Given the description of an element on the screen output the (x, y) to click on. 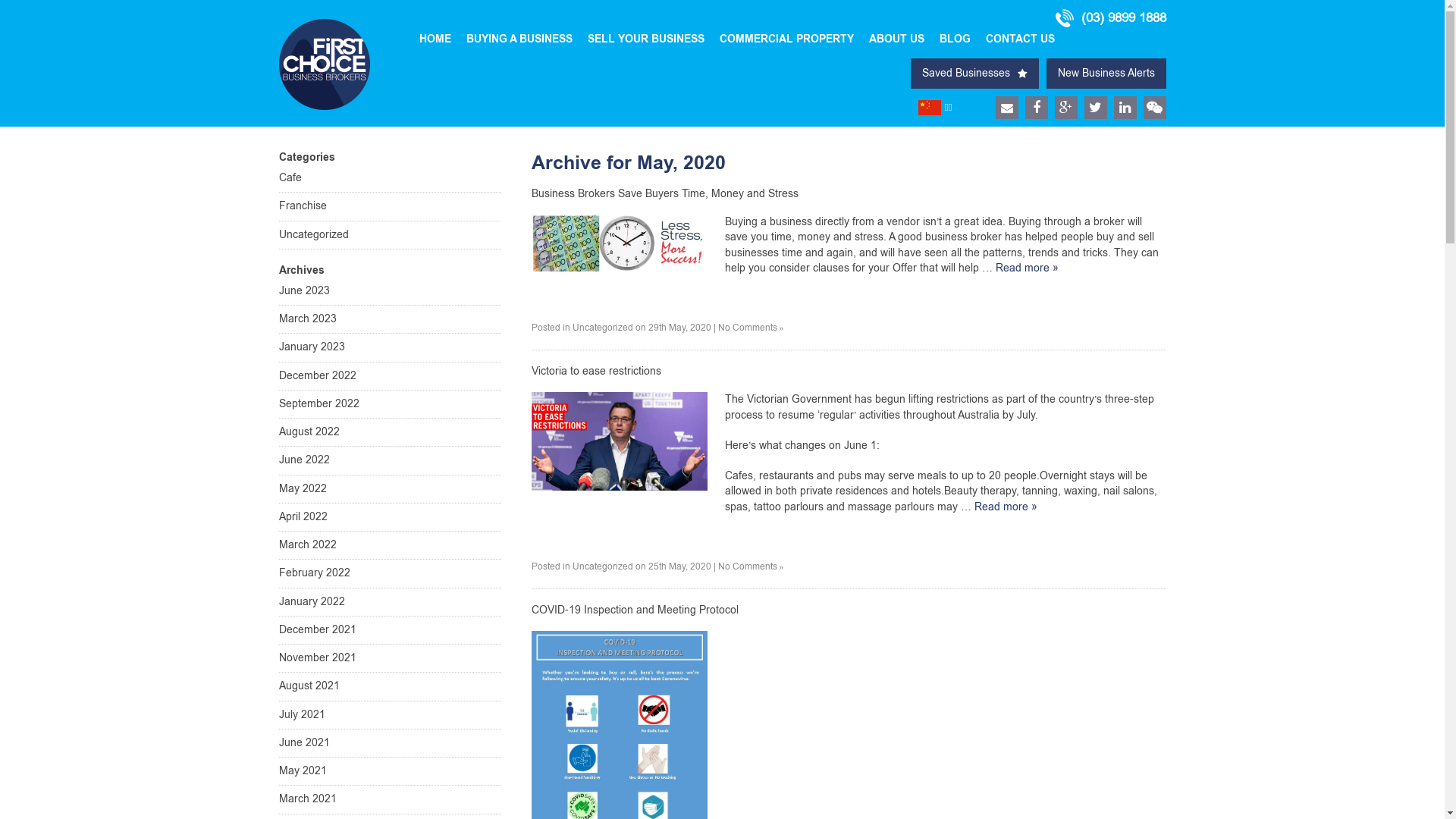
June 2021 Element type: text (390, 743)
April 2022 Element type: text (390, 517)
Google-plus Element type: hover (1065, 107)
First Choice Business Brokers PTY LTD -  Element type: hover (324, 63)
August 2022 Element type: text (390, 432)
July 2021 Element type: text (390, 714)
Twitter Element type: hover (1095, 107)
COVID-19 Inspection and Meeting Protocol Element type: text (633, 609)
March 2023 Element type: text (390, 319)
Wechat Element type: hover (1154, 107)
January 2022 Element type: text (390, 602)
Uncategorized Element type: text (601, 327)
Business Brokers Save Buyers Time, Money and Stress Element type: text (663, 193)
COMMERCIAL PROPERTY Element type: text (786, 39)
SELL YOUR BUSINESS Element type: text (646, 39)
Cafe Element type: text (390, 181)
January 2023 Element type: text (390, 347)
February 2022 Element type: text (390, 573)
Saved Businesses Element type: text (974, 73)
Victoria to ease restrictions Element type: text (595, 370)
August 2021 Element type: text (390, 686)
New Business Alerts Element type: text (1106, 73)
BUYING A BUSINESS Element type: text (519, 39)
email Element type: hover (1005, 107)
March 2022 Element type: text (390, 545)
December 2021 Element type: text (390, 630)
Uncategorized Element type: text (390, 235)
Facebook Element type: hover (1036, 107)
September 2022 Element type: text (390, 404)
March 2021 Element type: text (390, 799)
December 2022 Element type: text (390, 376)
June 2023 Element type: text (390, 294)
(03) 9899 1888 Element type: text (1109, 17)
May 2021 Element type: text (390, 771)
November 2021 Element type: text (390, 658)
HOME Element type: text (434, 39)
Uncategorized Element type: text (601, 566)
Franchise Element type: text (390, 206)
June 2022 Element type: text (390, 460)
BLOG Element type: text (954, 39)
May 2022 Element type: text (390, 488)
CONTACT US Element type: text (1020, 39)
Linkedin Element type: hover (1124, 107)
ABOUT US Element type: text (896, 39)
